Given the description of an element on the screen output the (x, y) to click on. 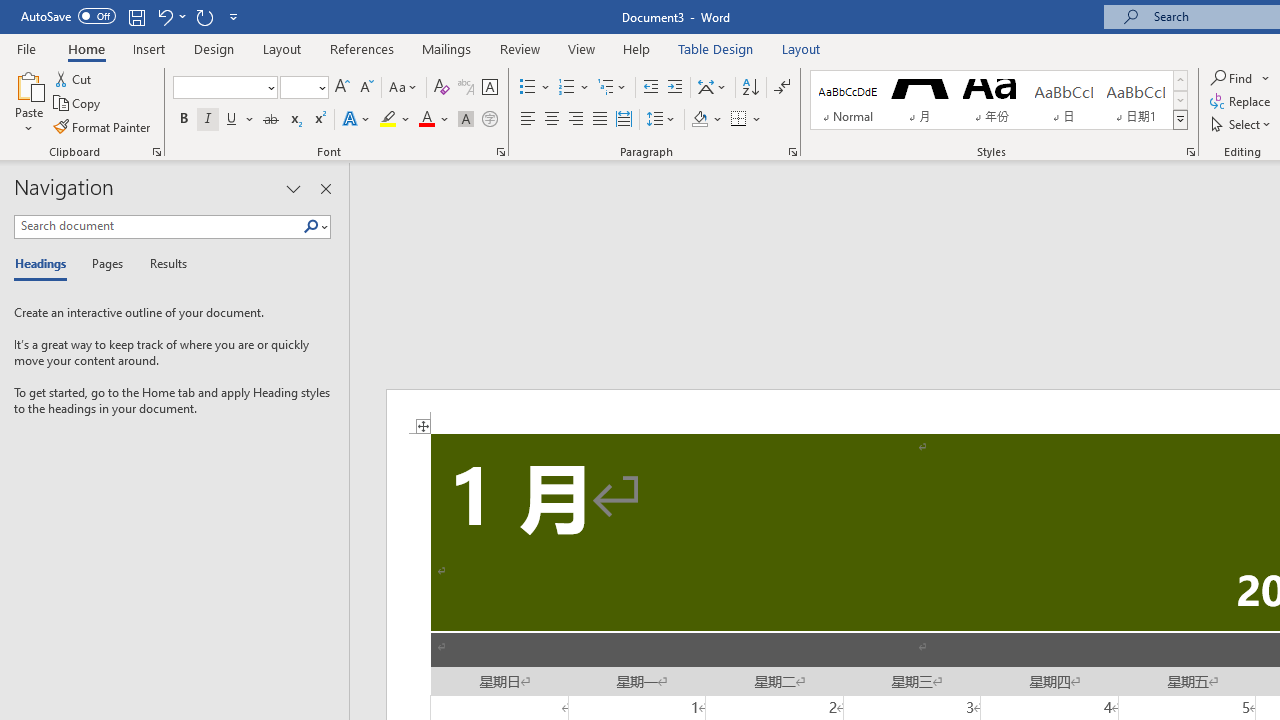
Increase Indent (675, 87)
Styles... (1190, 151)
Clear Formatting (442, 87)
Subscript (294, 119)
Decrease Indent (650, 87)
Format Painter (103, 126)
Row up (1179, 79)
Bold (183, 119)
Change Case (404, 87)
Shrink Font (365, 87)
Replace... (1242, 101)
Copy (78, 103)
